Given the description of an element on the screen output the (x, y) to click on. 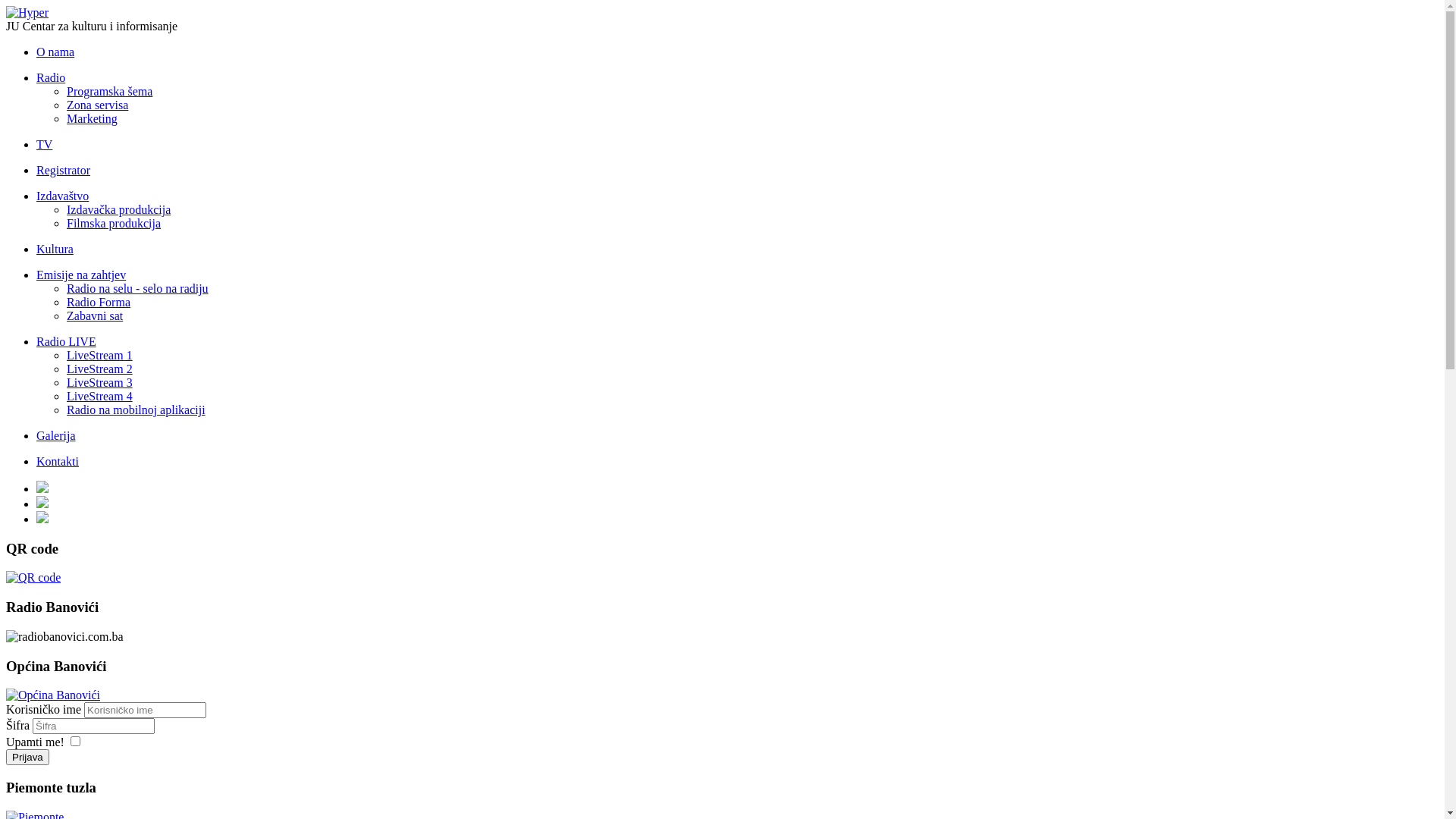
Filmska produkcija Element type: text (113, 222)
LiveStream 1 Element type: text (99, 354)
Kontakti Element type: text (57, 461)
Galerija Element type: text (55, 435)
LiveStream 3 Element type: text (99, 382)
Prijava Element type: text (27, 757)
Radio Forma Element type: text (98, 301)
LiveStream 2 Element type: text (99, 368)
Kultura Element type: text (54, 248)
Zabavni sat Element type: text (94, 315)
Marketing Element type: text (91, 118)
Emisije na zahtjev Element type: text (80, 274)
Registrator Element type: text (63, 169)
Radio na mobilnoj aplikaciji Element type: text (135, 409)
LiveStream 4 Element type: text (99, 395)
Zona servisa Element type: text (97, 104)
Radio Element type: text (50, 77)
Radio LIVE Element type: text (66, 341)
QR code Element type: hover (33, 577)
Radio na selu - selo na radiju Element type: text (137, 288)
TV Element type: text (44, 144)
O nama Element type: text (55, 51)
